Given the description of an element on the screen output the (x, y) to click on. 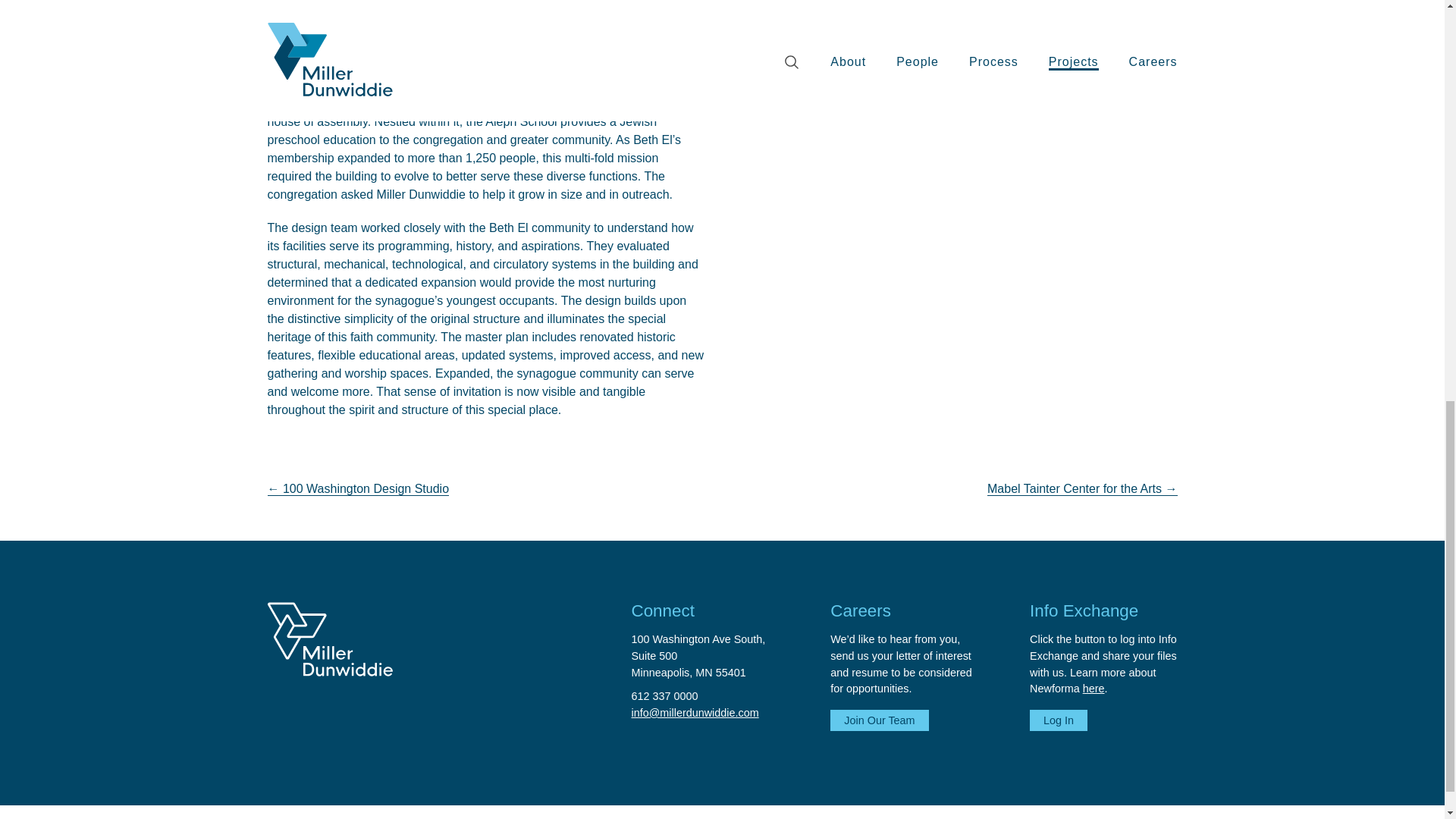
Log In (703, 654)
facebook (1058, 720)
612 337 0000 (1109, 817)
instagram (663, 695)
Join Our Team (1180, 817)
twitter (878, 720)
here (1142, 817)
